Given the description of an element on the screen output the (x, y) to click on. 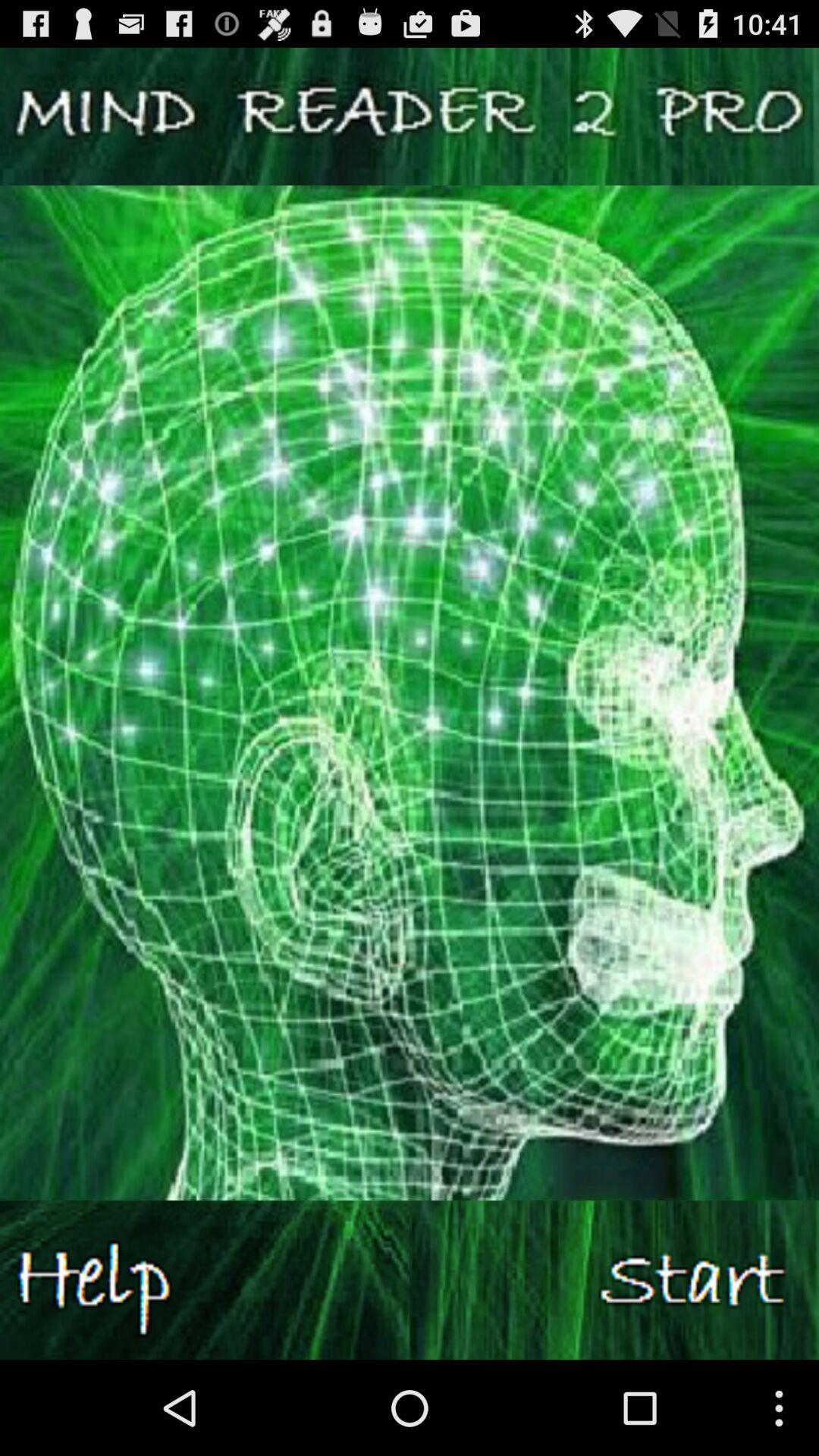
help with the app 's functionality (204, 1279)
